Given the description of an element on the screen output the (x, y) to click on. 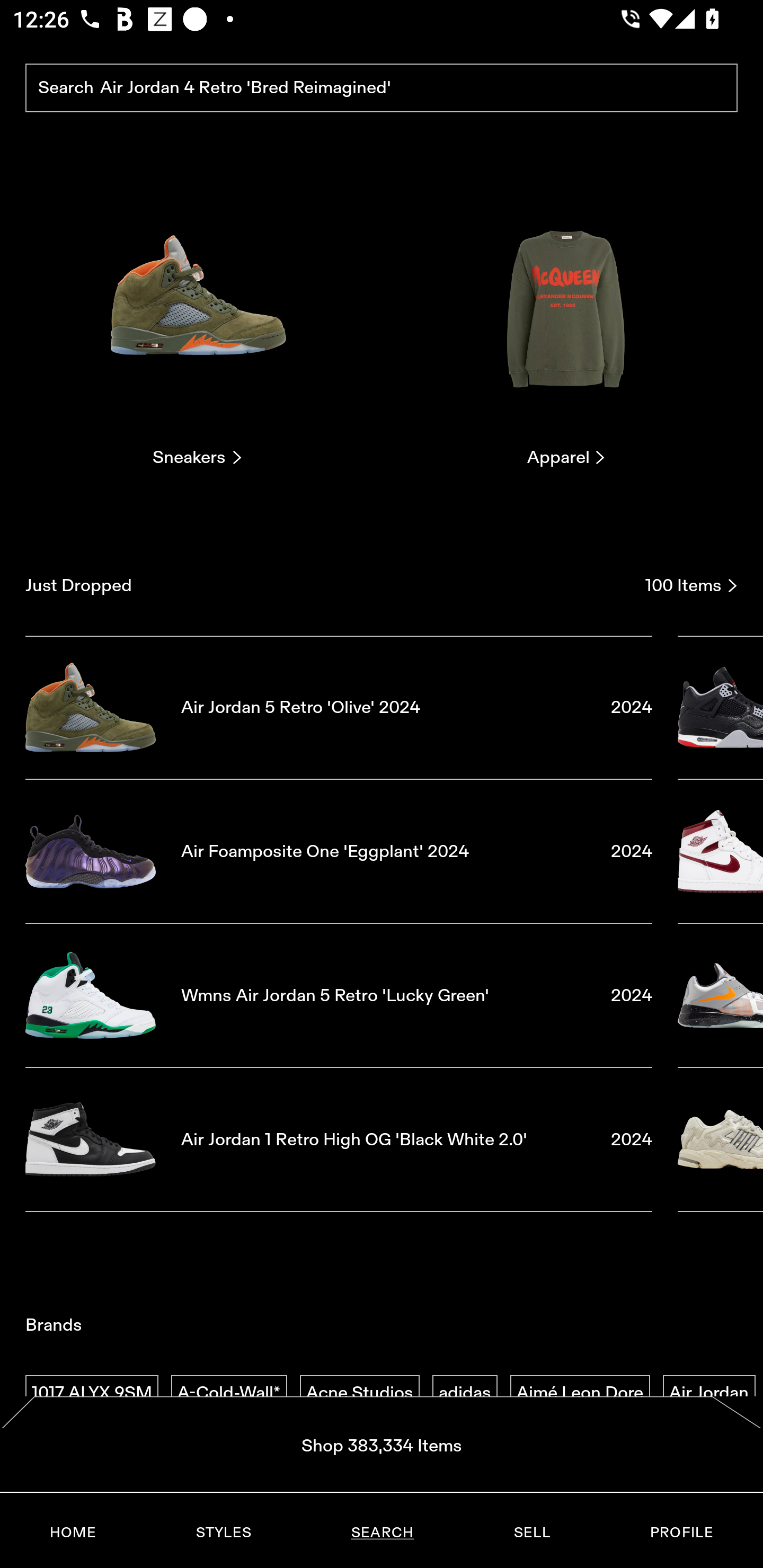
Search (381, 88)
Sneakers (196, 323)
Apparel (565, 323)
Just Dropped (328, 585)
100 Items (691, 585)
Air Jordan 5 Retro 'Olive' 2024 2024 (338, 707)
Air Foamposite One 'Eggplant' 2024 2024 (338, 851)
Wmns Air Jordan 5 Retro 'Lucky Green' 2024 (338, 995)
Air Jordan 1 Retro High OG 'Black White 2.0' 2024 (338, 1139)
1017 ALYX 9SM (91, 1393)
A-Cold-Wall* (228, 1393)
Acne Studios (359, 1393)
adidas (464, 1393)
Aimé Leon Dore (580, 1393)
Air Jordan (709, 1393)
Price (530, 1526)
Comme des Garçons SHIRT (380, 1538)
